Given the description of an element on the screen output the (x, y) to click on. 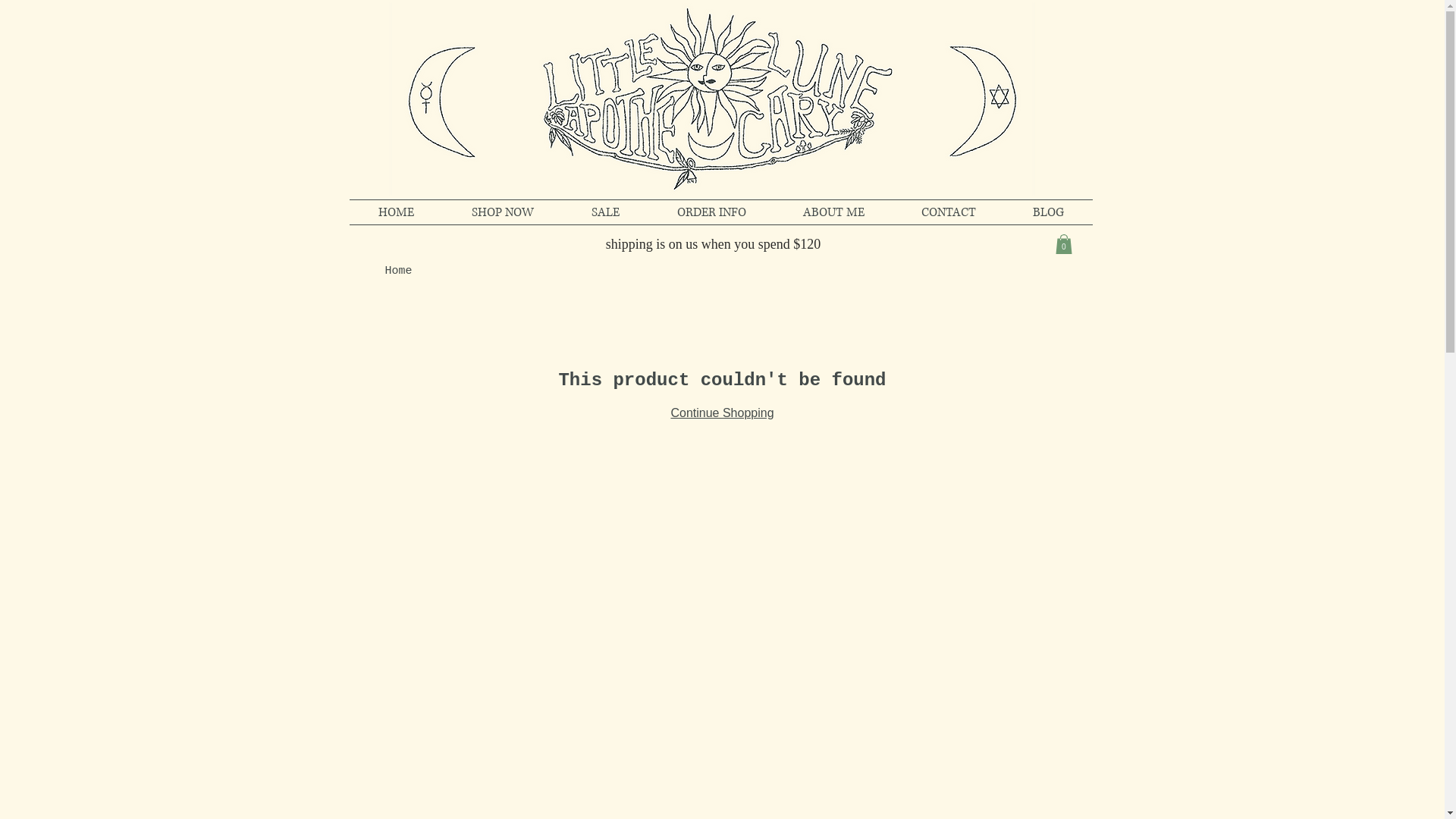
BLOG Element type: text (1048, 212)
ABOUT ME Element type: text (834, 212)
CONTACT Element type: text (948, 212)
Home Element type: text (398, 270)
ORDER INFO Element type: text (710, 212)
Continue Shopping Element type: text (721, 412)
0 Element type: text (1063, 244)
SALE Element type: text (605, 212)
HOME Element type: text (395, 212)
SHOP NOW Element type: text (502, 212)
